Given the description of an element on the screen output the (x, y) to click on. 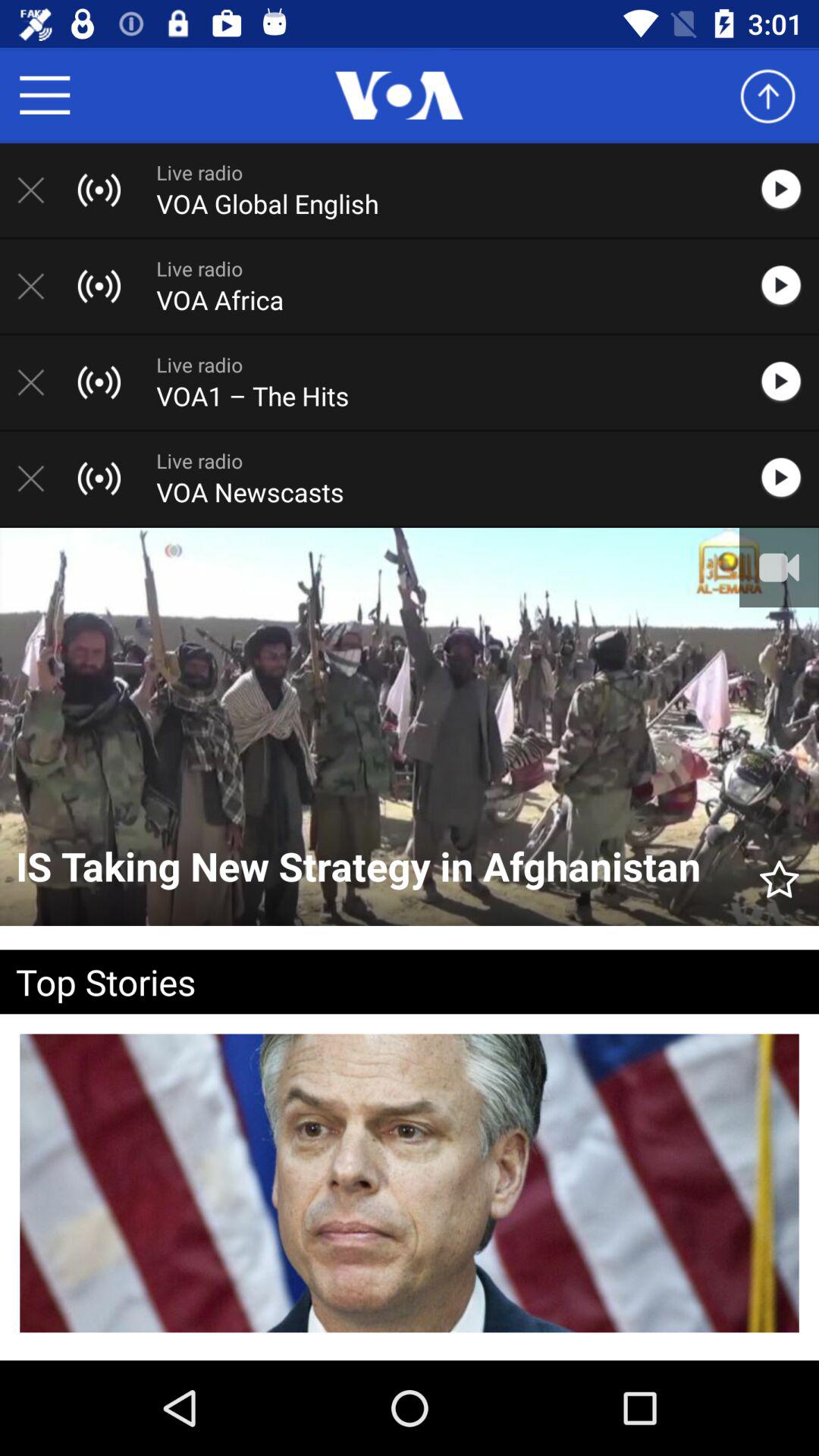
options (44, 95)
